Given the description of an element on the screen output the (x, y) to click on. 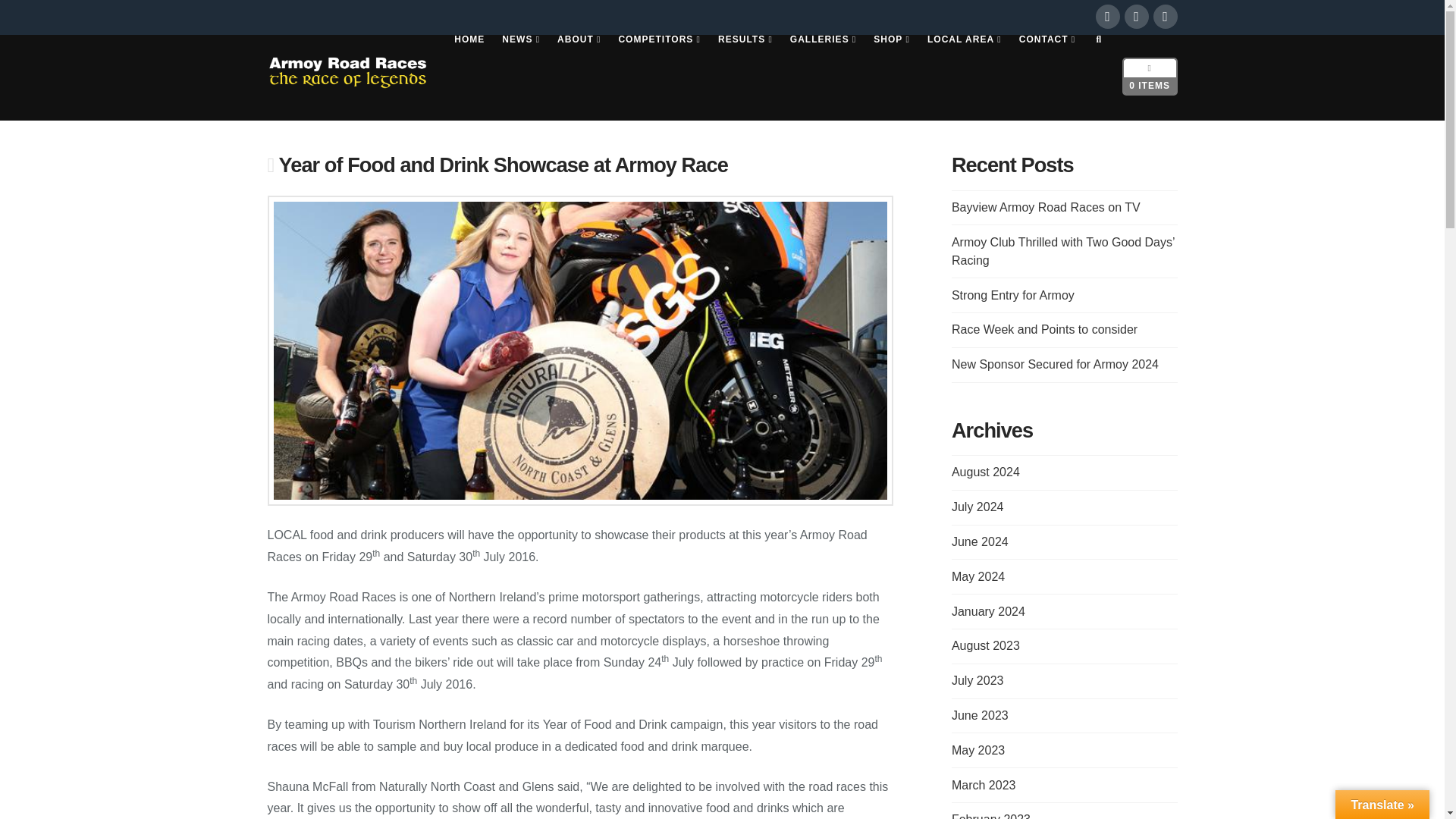
Facebook (1106, 16)
COMPETITORS (658, 77)
YouTube (1164, 16)
GALLERIES (822, 77)
